Given the description of an element on the screen output the (x, y) to click on. 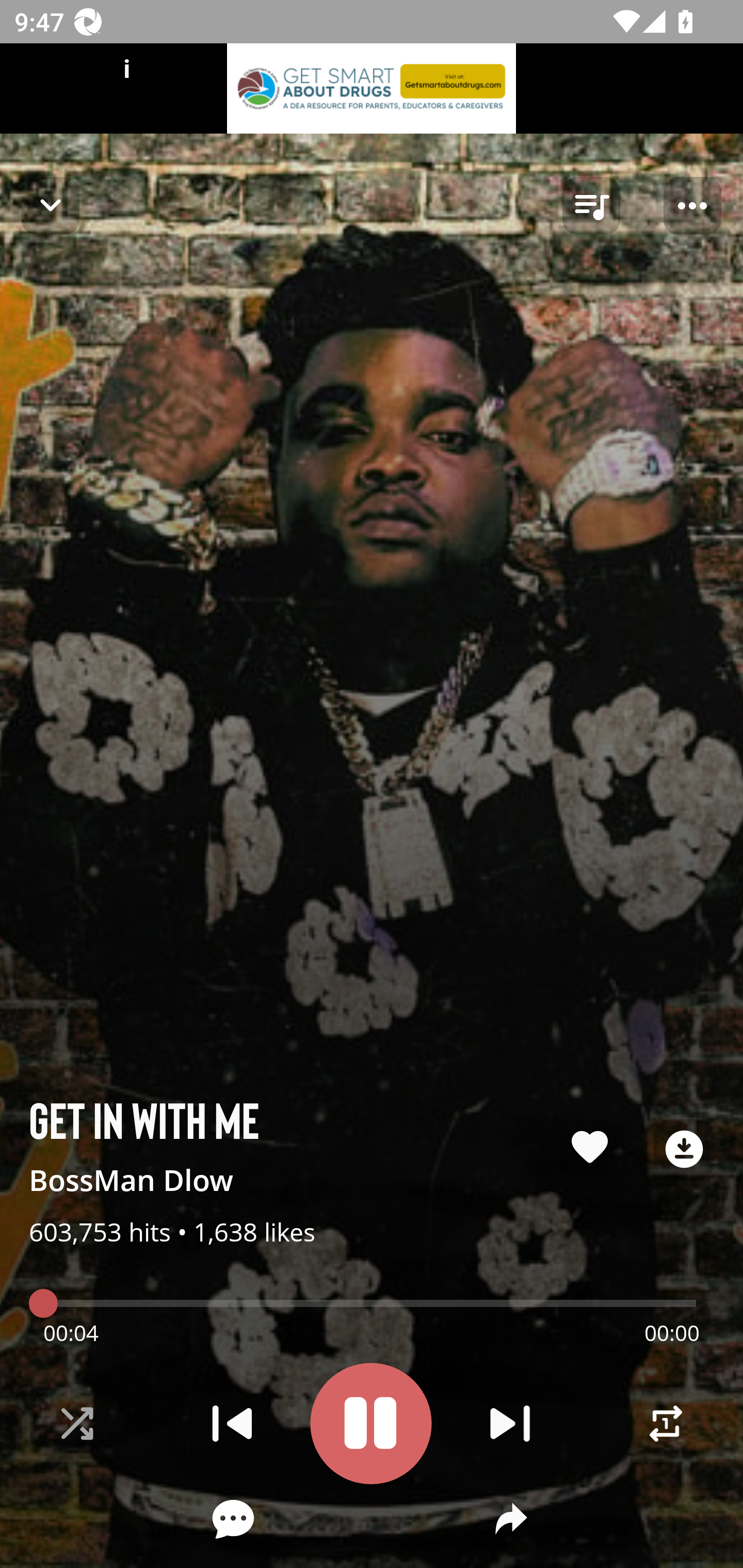
Navigate up (50, 205)
queue (590, 206)
Player options (692, 206)
